Given the description of an element on the screen output the (x, y) to click on. 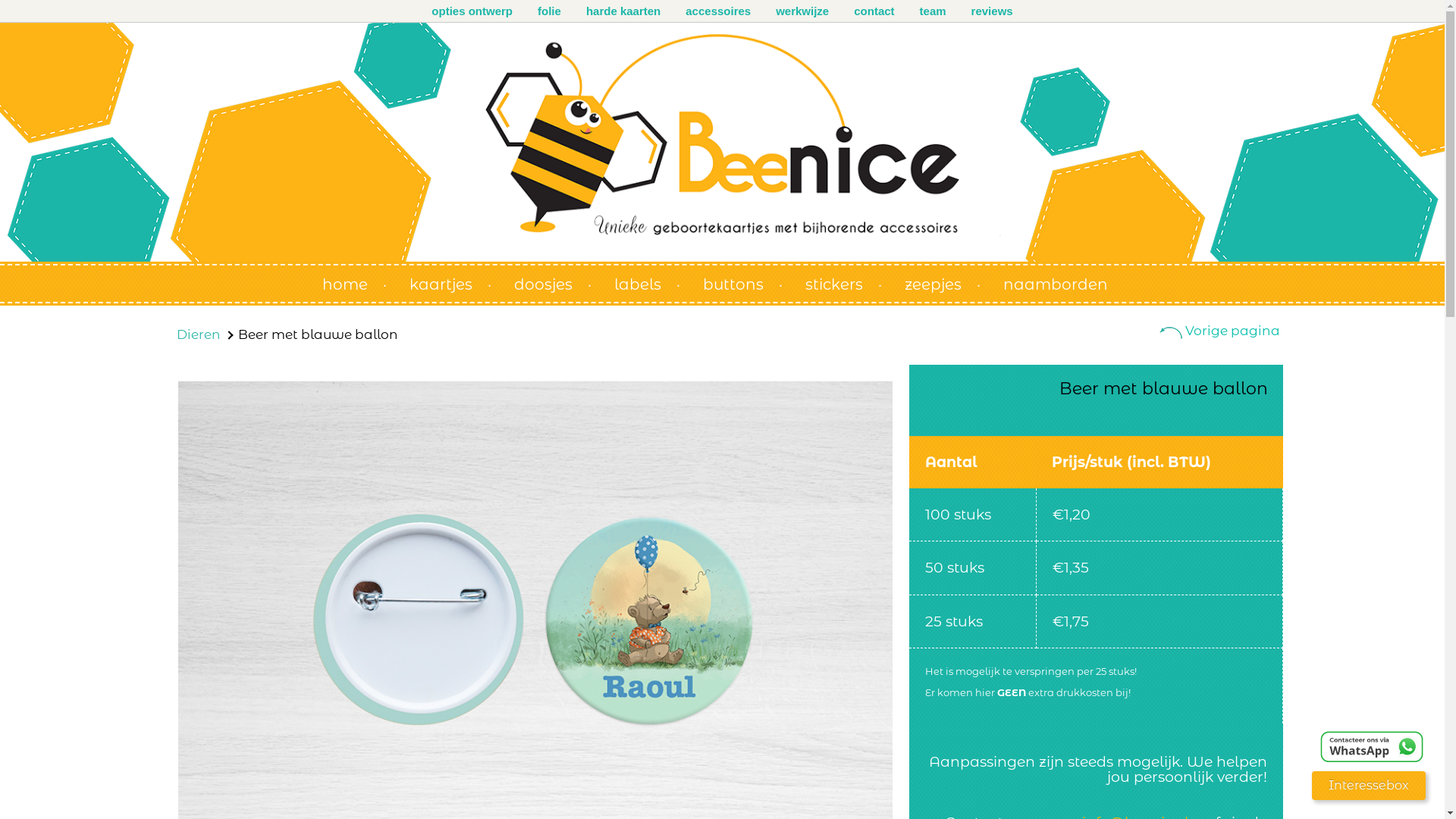
harde kaarten Element type: text (623, 10)
opties ontwerp Element type: text (471, 10)
labels Element type: text (646, 281)
werkwijze Element type: text (801, 10)
home Element type: text (354, 281)
kaartjes Element type: text (449, 281)
stickers Element type: text (842, 281)
doosjes Element type: text (552, 281)
naamborden Element type: text (1062, 281)
folie Element type: text (549, 10)
Interessebox Element type: text (1368, 785)
buttons Element type: text (742, 281)
team Element type: text (932, 10)
reviews Element type: text (992, 10)
Dieren Element type: text (197, 334)
contact Element type: text (873, 10)
Beer met blauwe ballon Element type: text (318, 334)
zeepjes Element type: text (942, 281)
Vorige pagina Element type: text (1218, 330)
accessoires Element type: text (717, 10)
